Given the description of an element on the screen output the (x, y) to click on. 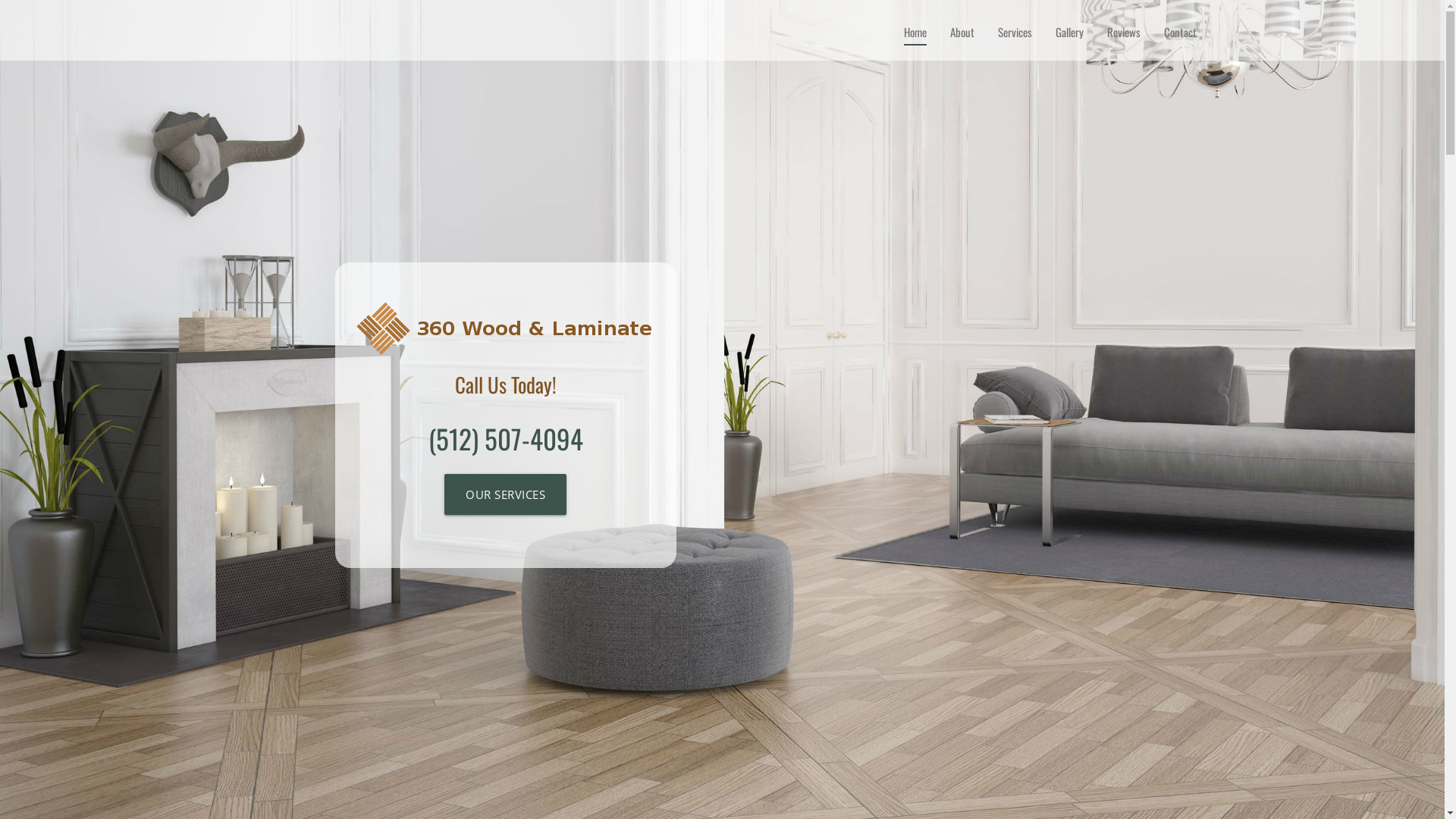
About Element type: text (961, 31)
(512) 507-4094 Element type: text (505, 438)
Gallery Element type: text (1069, 31)
Contact Element type: text (1179, 31)
Services Element type: text (1014, 31)
Reviews Element type: text (1123, 31)
OUR SERVICES Element type: text (505, 493)
Home Element type: text (914, 31)
